Given the description of an element on the screen output the (x, y) to click on. 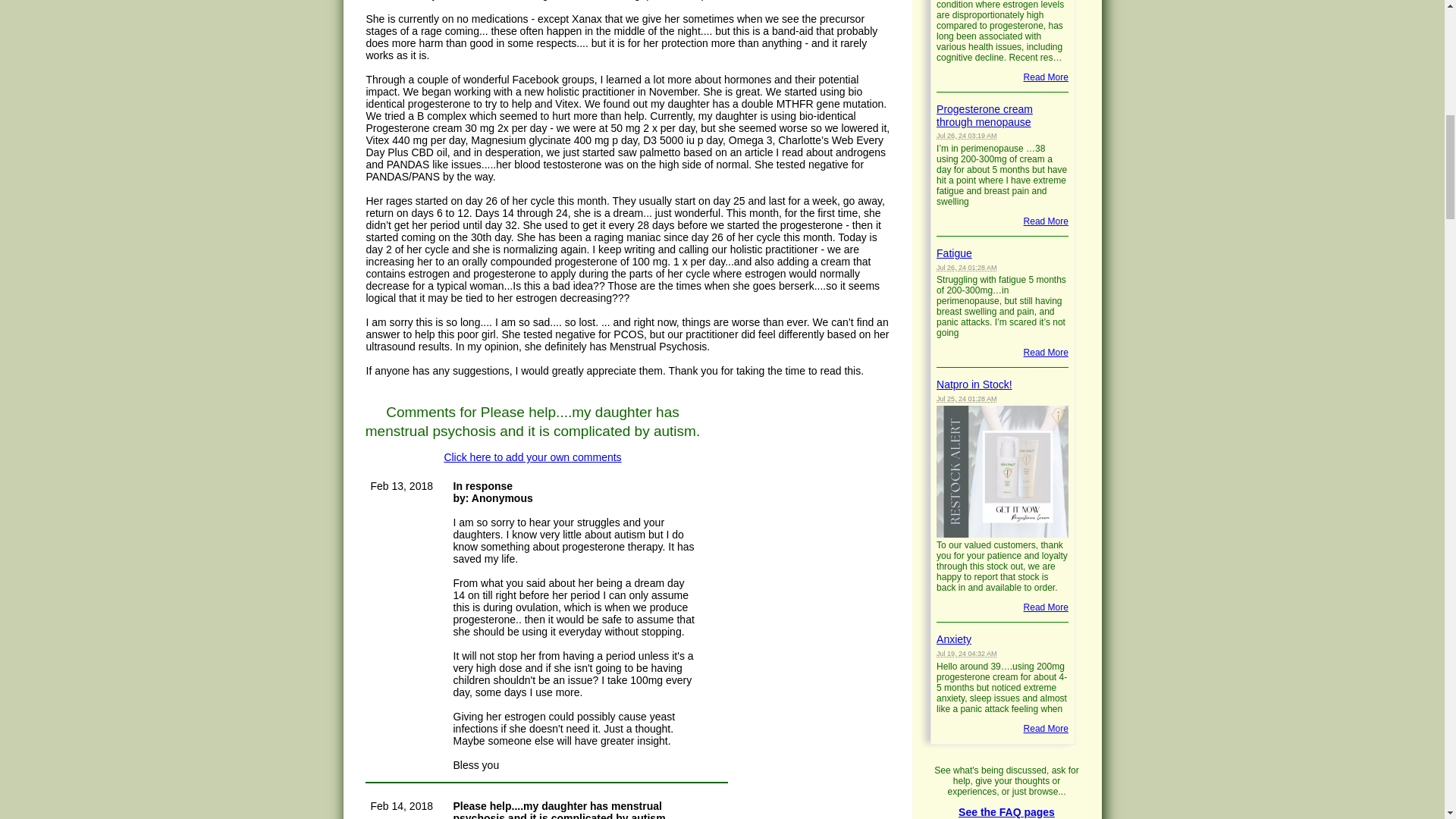
2024-07-25T01:28:05-0400 (966, 398)
2024-07-19T04:32:49-0400 (966, 653)
2024-07-26T01:28:12-0400 (966, 267)
2024-07-26T03:19:18-0400 (966, 135)
